Given the description of an element on the screen output the (x, y) to click on. 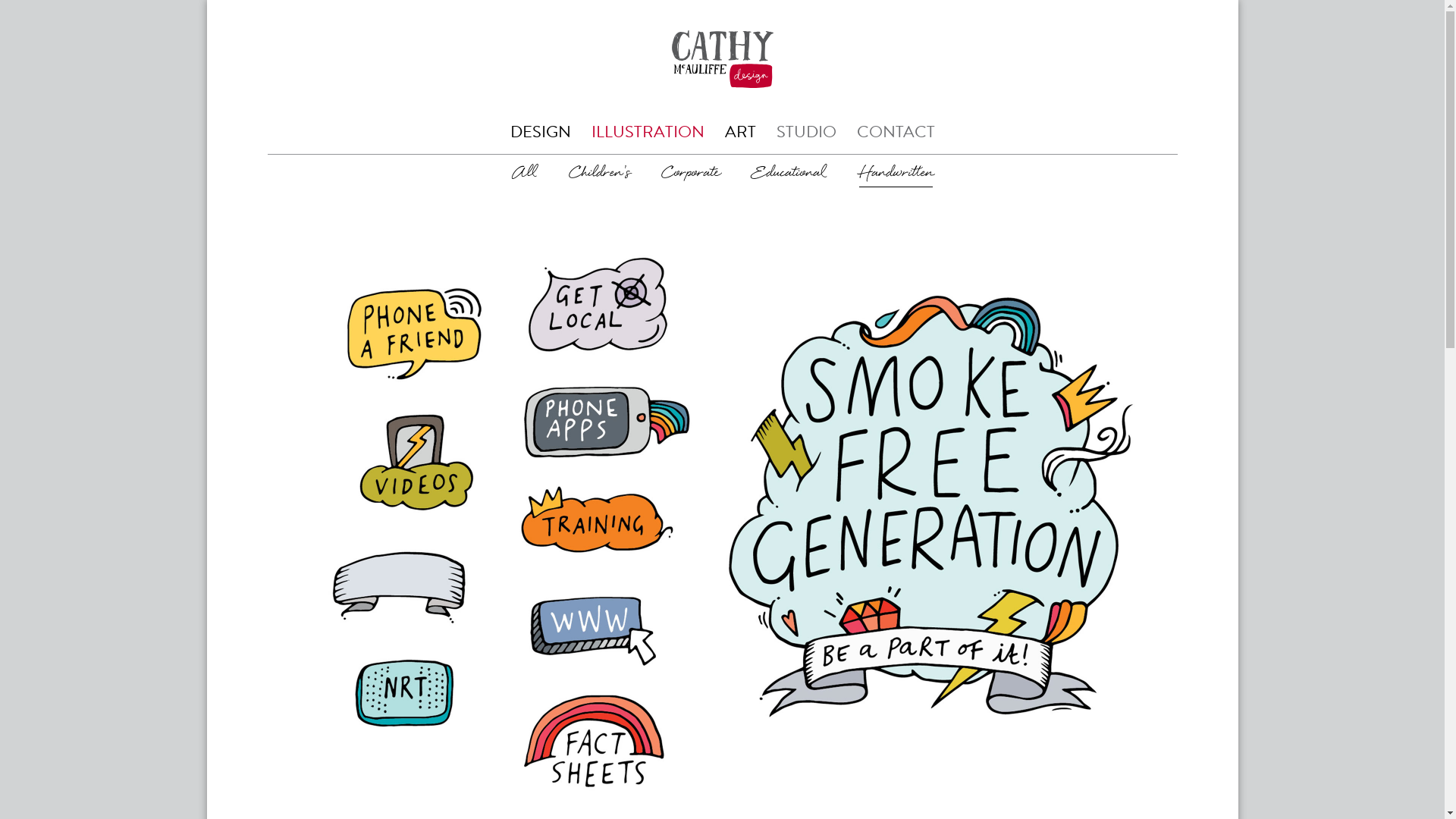
ILLUSTRATION Element type: text (647, 131)
CONTACT Element type: text (895, 131)
ART Element type: text (740, 131)
Corporate Element type: text (690, 173)
Handwritten Element type: text (894, 173)
Educational Element type: text (788, 173)
STUDIO Element type: text (806, 131)
All Element type: text (524, 173)
DESIGN Element type: text (539, 131)
